Given the description of an element on the screen output the (x, y) to click on. 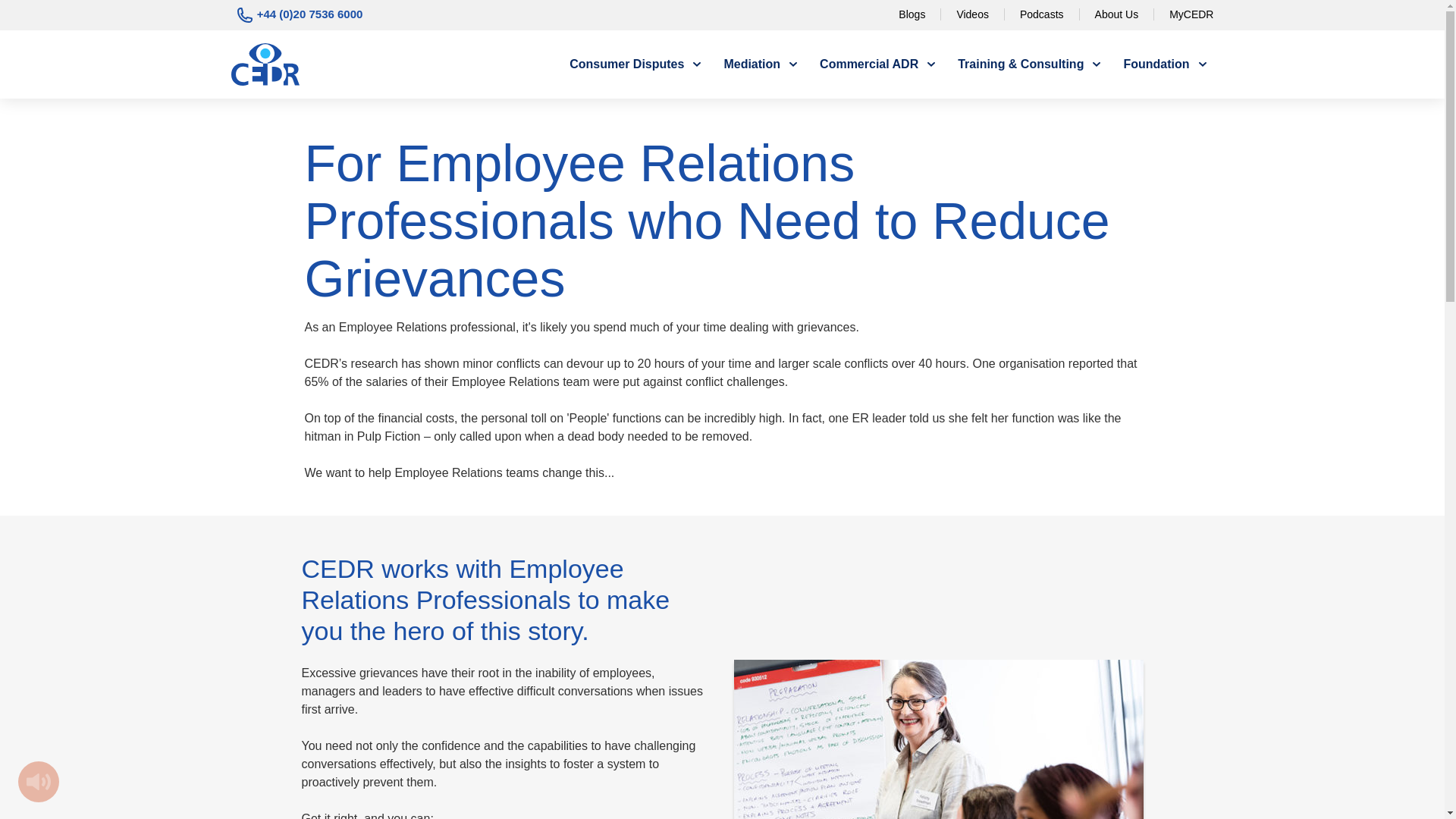
Mediation (760, 64)
Blogs (911, 14)
Consumer Disputes (634, 64)
Listen with the ReachDeck Toolbar (38, 781)
Videos (972, 14)
Commercial ADR (877, 64)
Podcasts (1042, 14)
About Us (1116, 14)
MyCEDR (1190, 14)
